Given the description of an element on the screen output the (x, y) to click on. 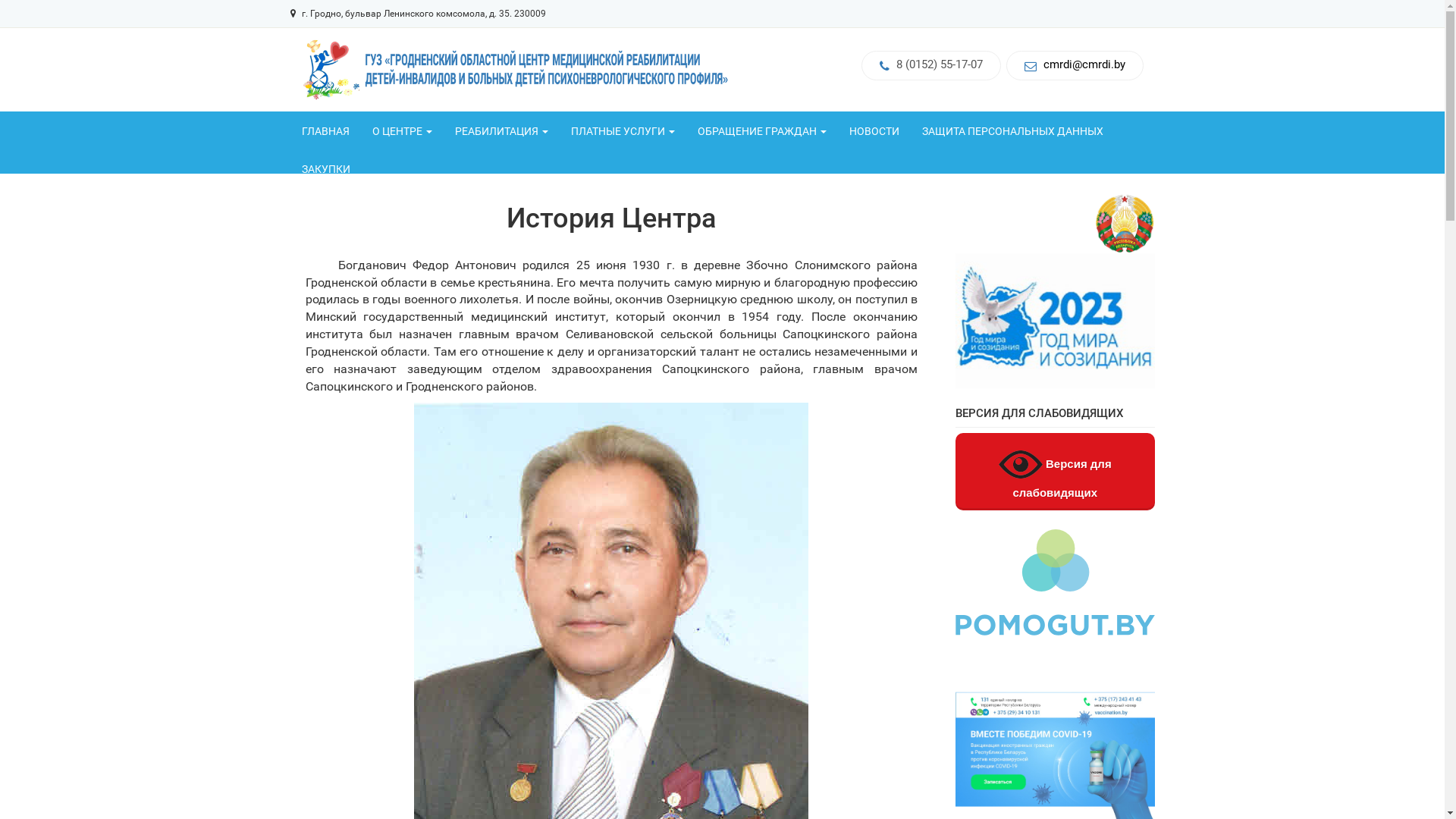
cmrdi@cmrdi.by Element type: text (1084, 64)
